Given the description of an element on the screen output the (x, y) to click on. 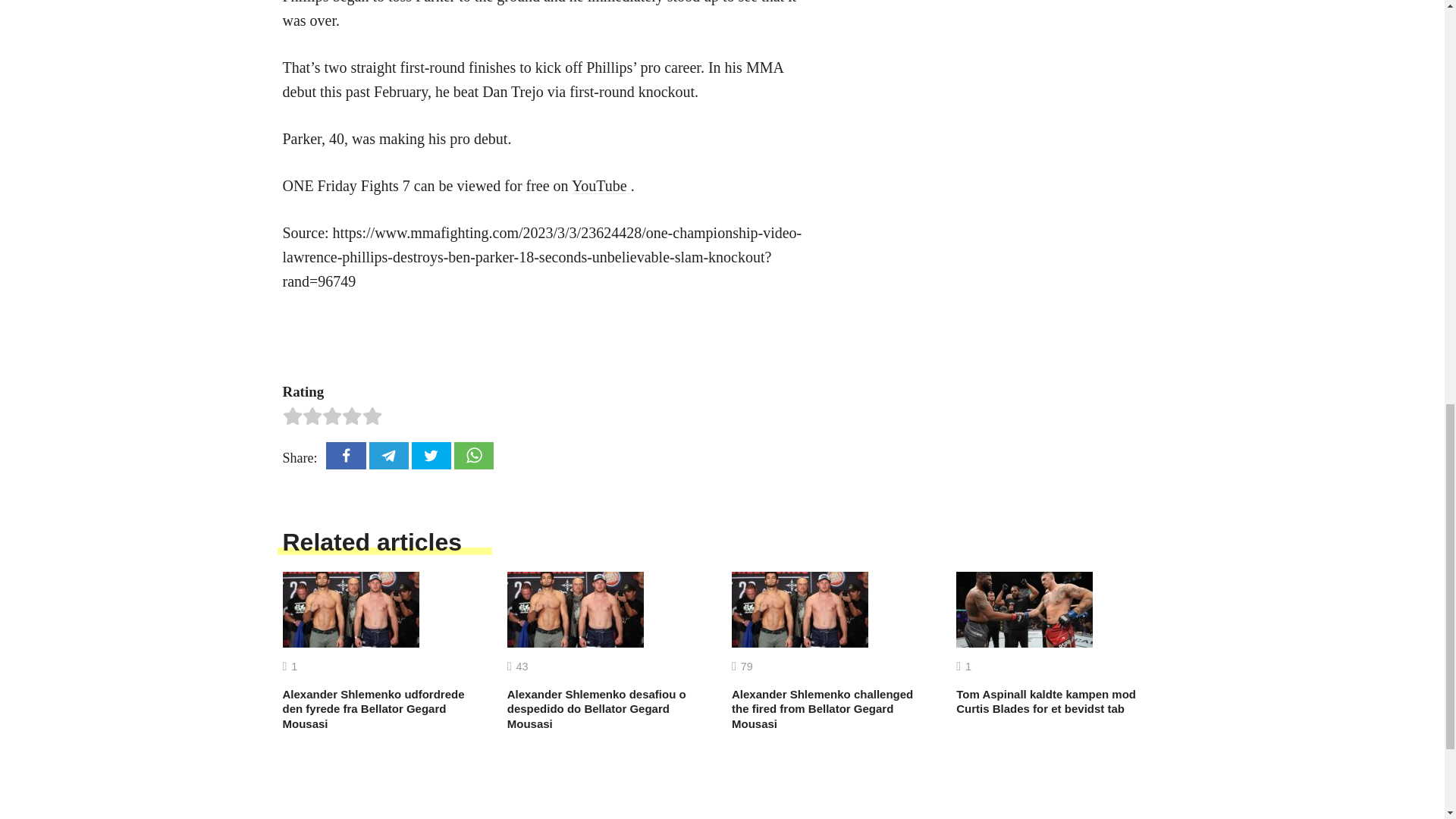
YouTube (601, 185)
